Given the description of an element on the screen output the (x, y) to click on. 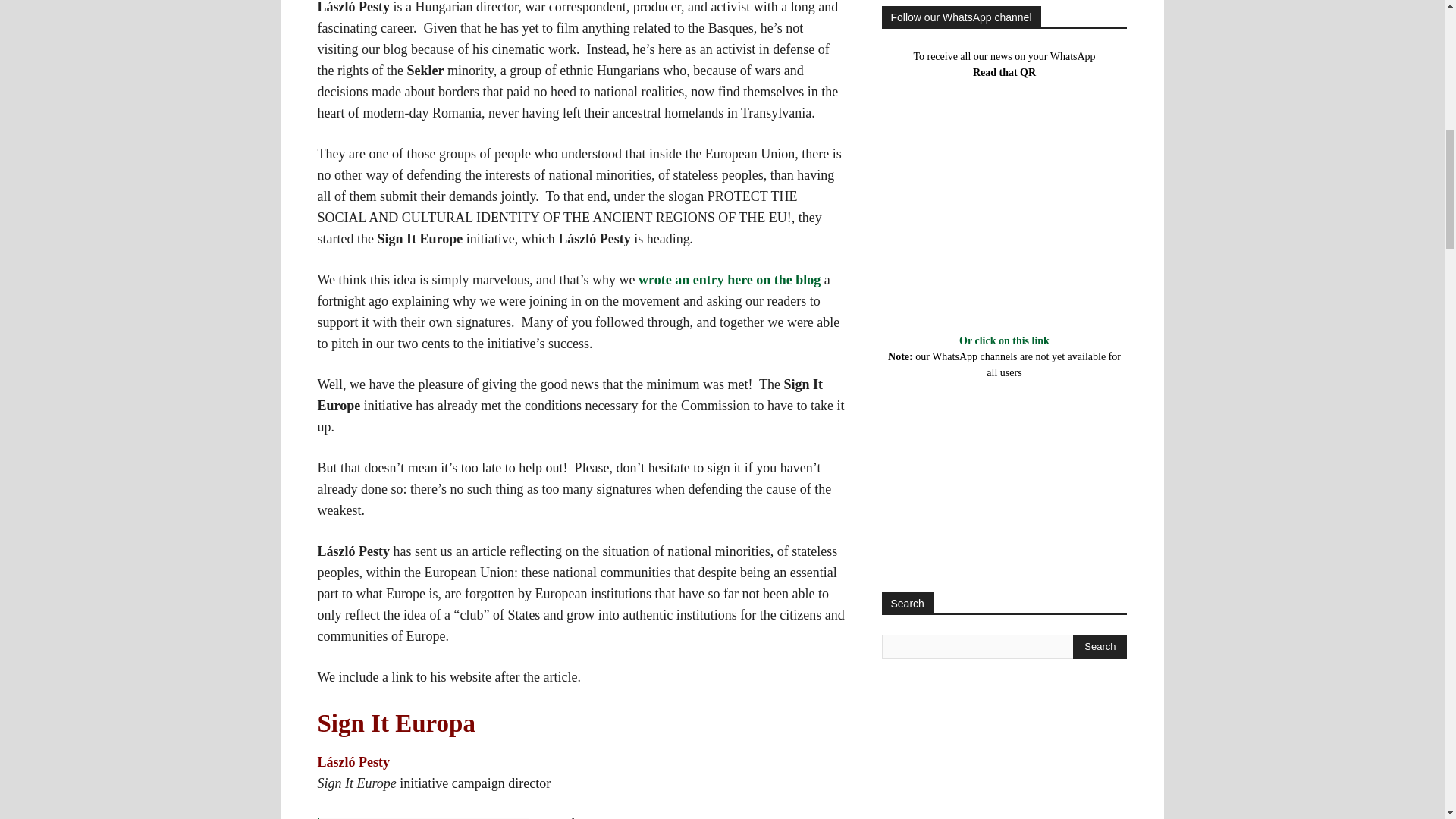
Search (1099, 646)
